Given the description of an element on the screen output the (x, y) to click on. 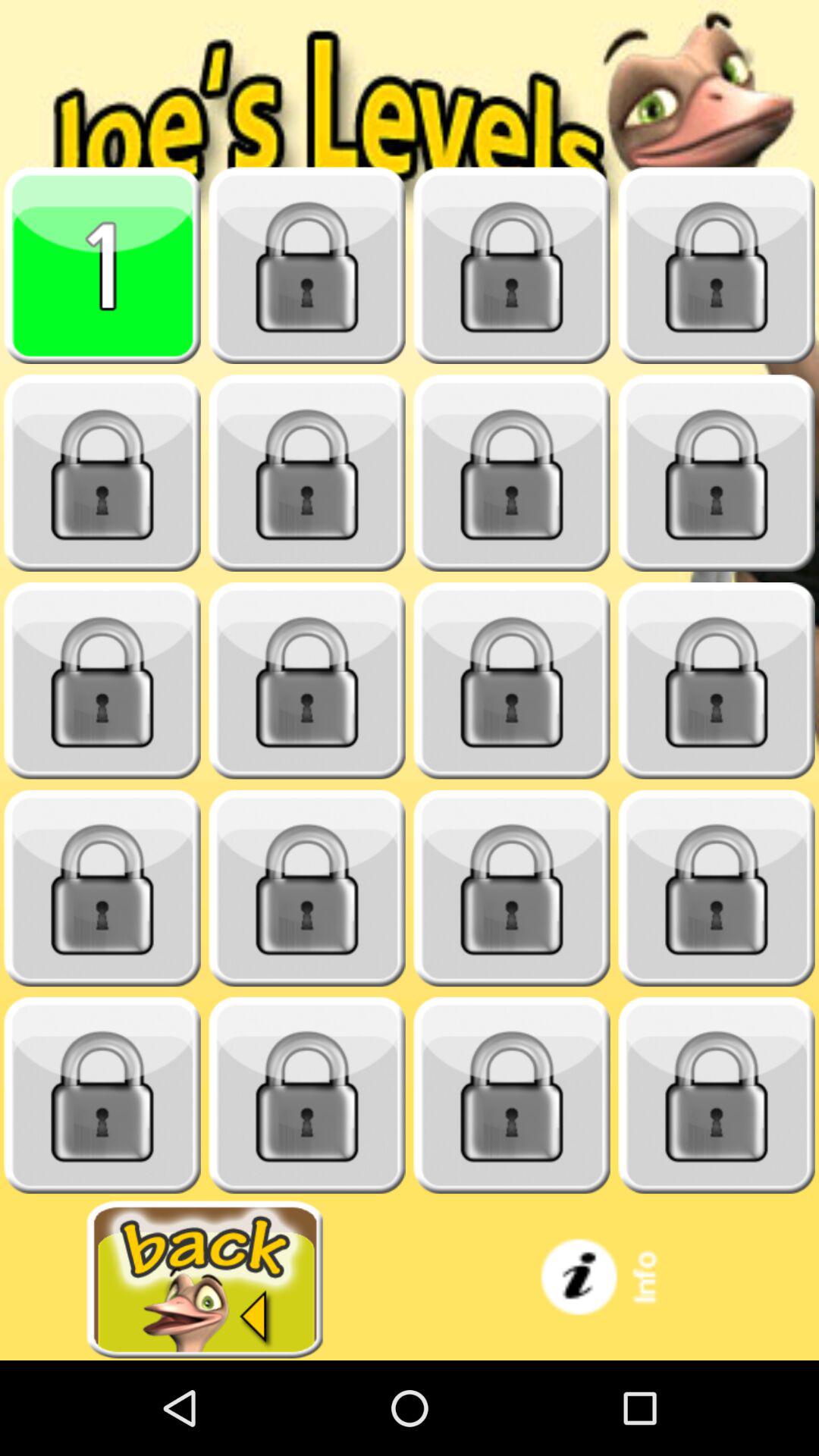
unlock section (306, 680)
